Given the description of an element on the screen output the (x, y) to click on. 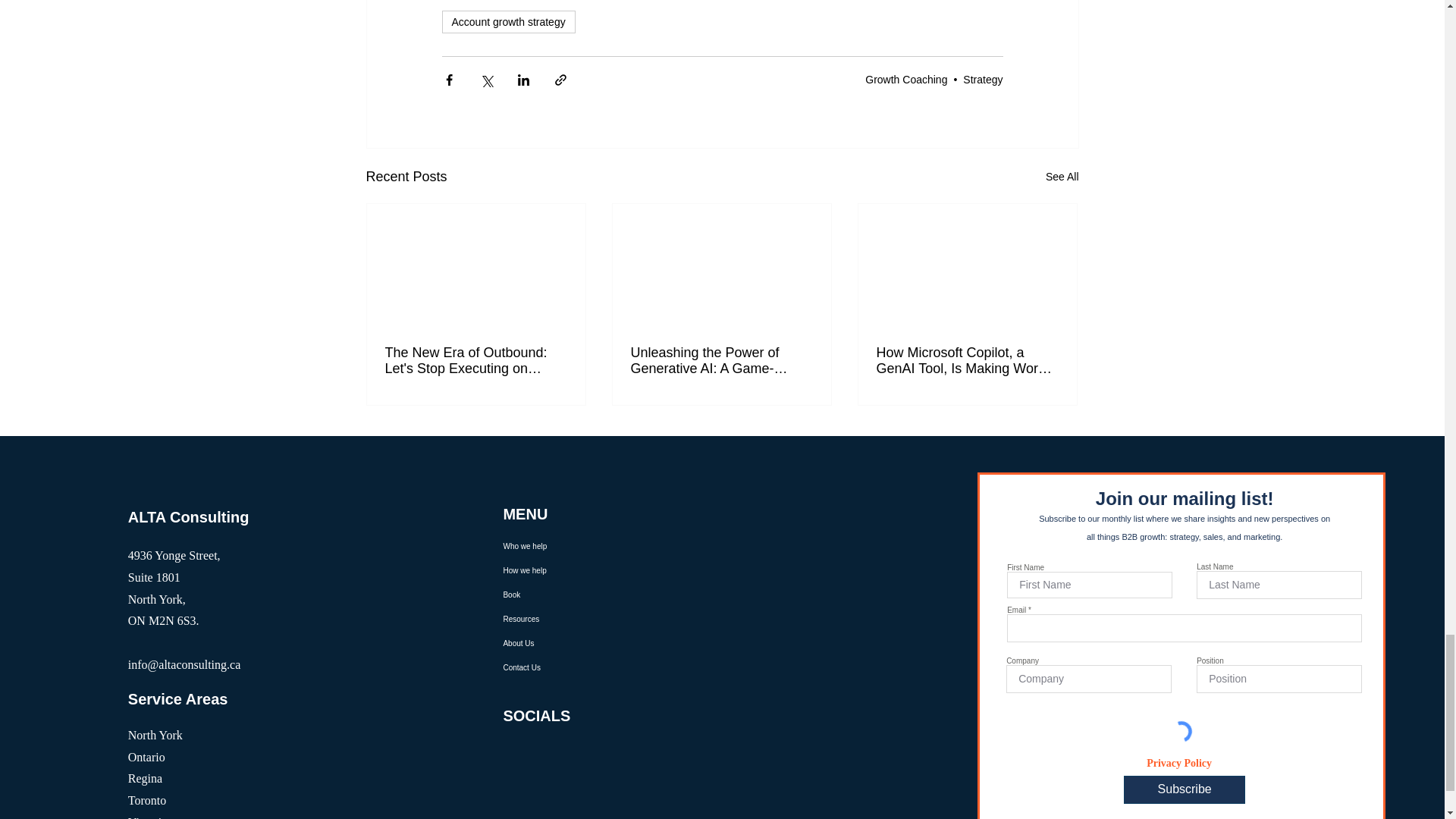
Strategy (982, 79)
Account growth strategy (508, 21)
Growth Coaching (905, 79)
See All (1061, 177)
